Given the description of an element on the screen output the (x, y) to click on. 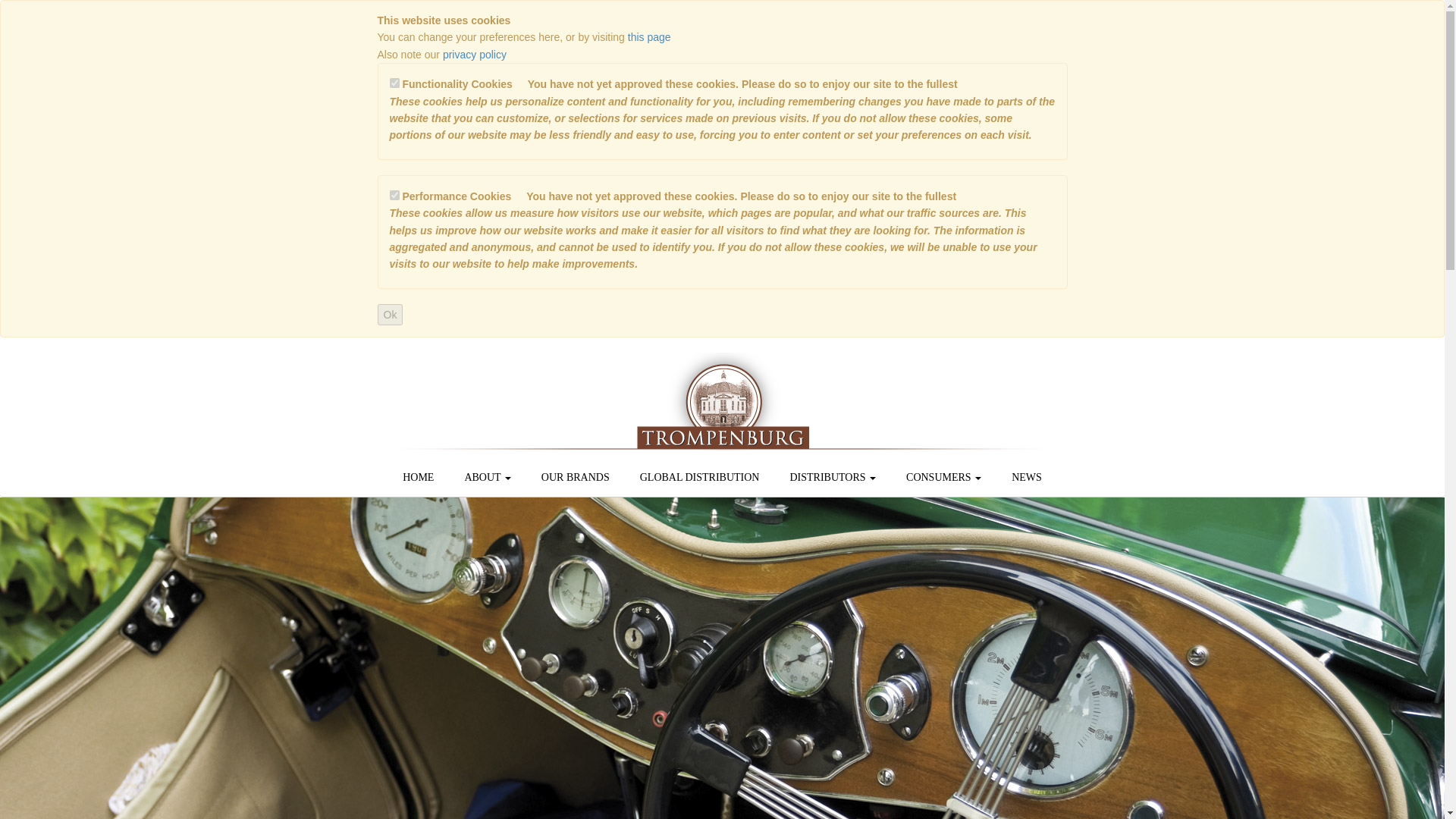
HOME (417, 477)
this page (649, 37)
Ok (390, 314)
Ok (390, 314)
CONSUMERS (943, 477)
NEWS (1026, 477)
y (394, 82)
OUR BRANDS (574, 477)
ABOUT (486, 477)
cookies and privacy (649, 37)
y (394, 194)
DISTRIBUTORS (832, 477)
GLOBAL DISTRIBUTION (699, 477)
privacy policy (474, 54)
